Given the description of an element on the screen output the (x, y) to click on. 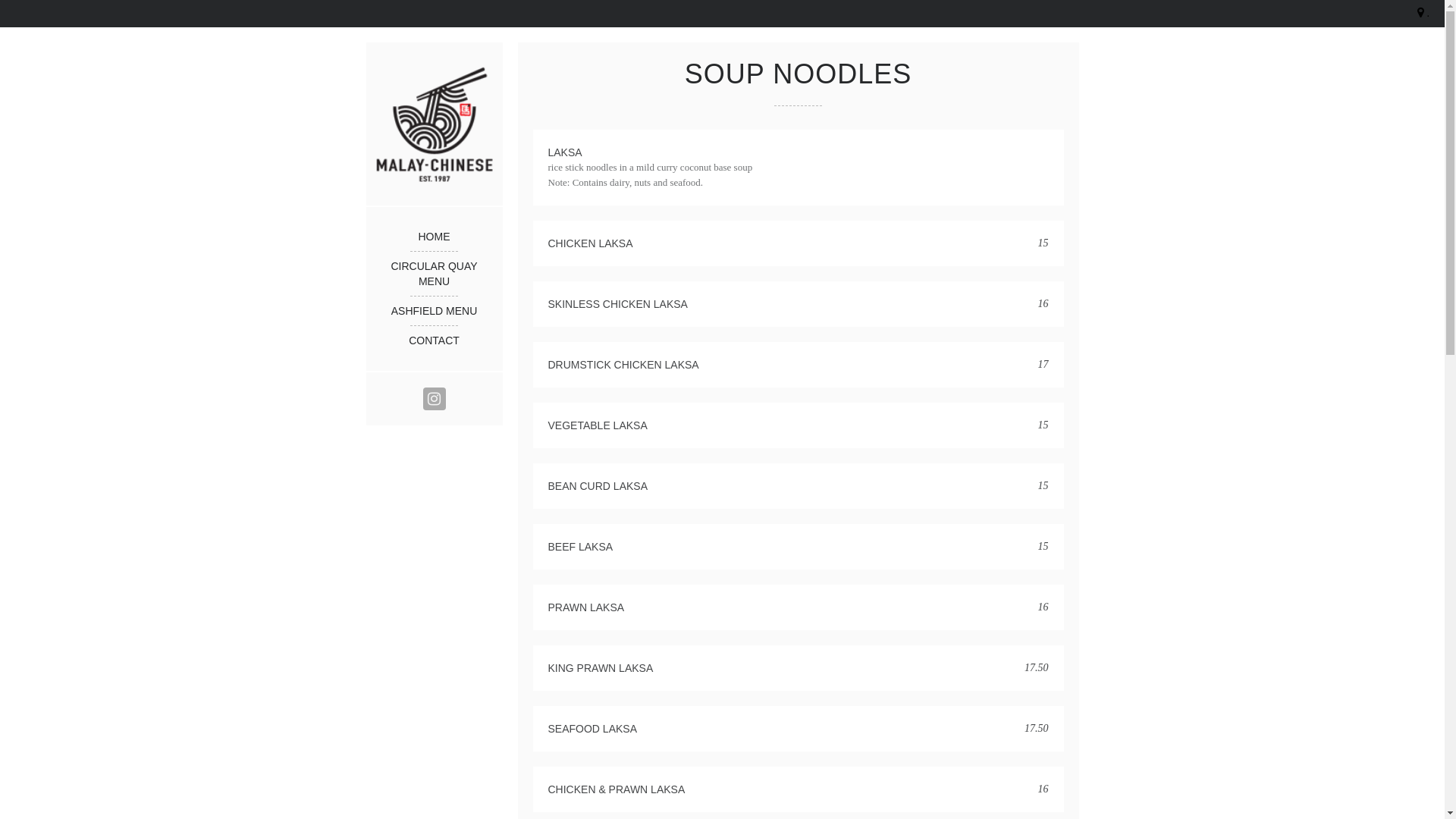
CIRCULAR QUAY MENU Element type: text (433, 273)
ASHFIELD MENU Element type: text (433, 310)
CONTACT Element type: text (433, 340)
HOME Element type: text (433, 236)
